Given the description of an element on the screen output the (x, y) to click on. 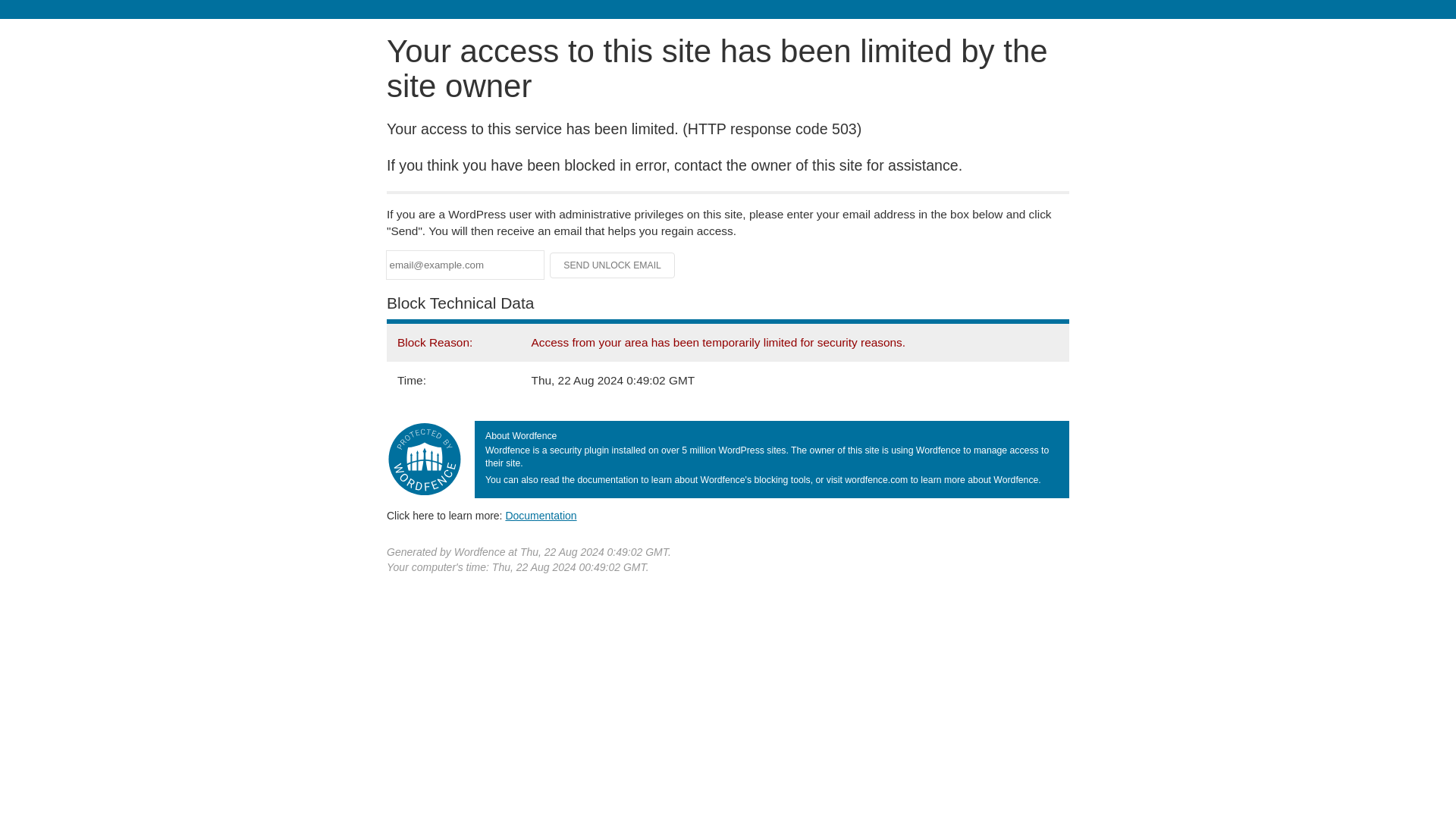
Send Unlock Email (612, 265)
Send Unlock Email (612, 265)
Documentation (540, 515)
